Given the description of an element on the screen output the (x, y) to click on. 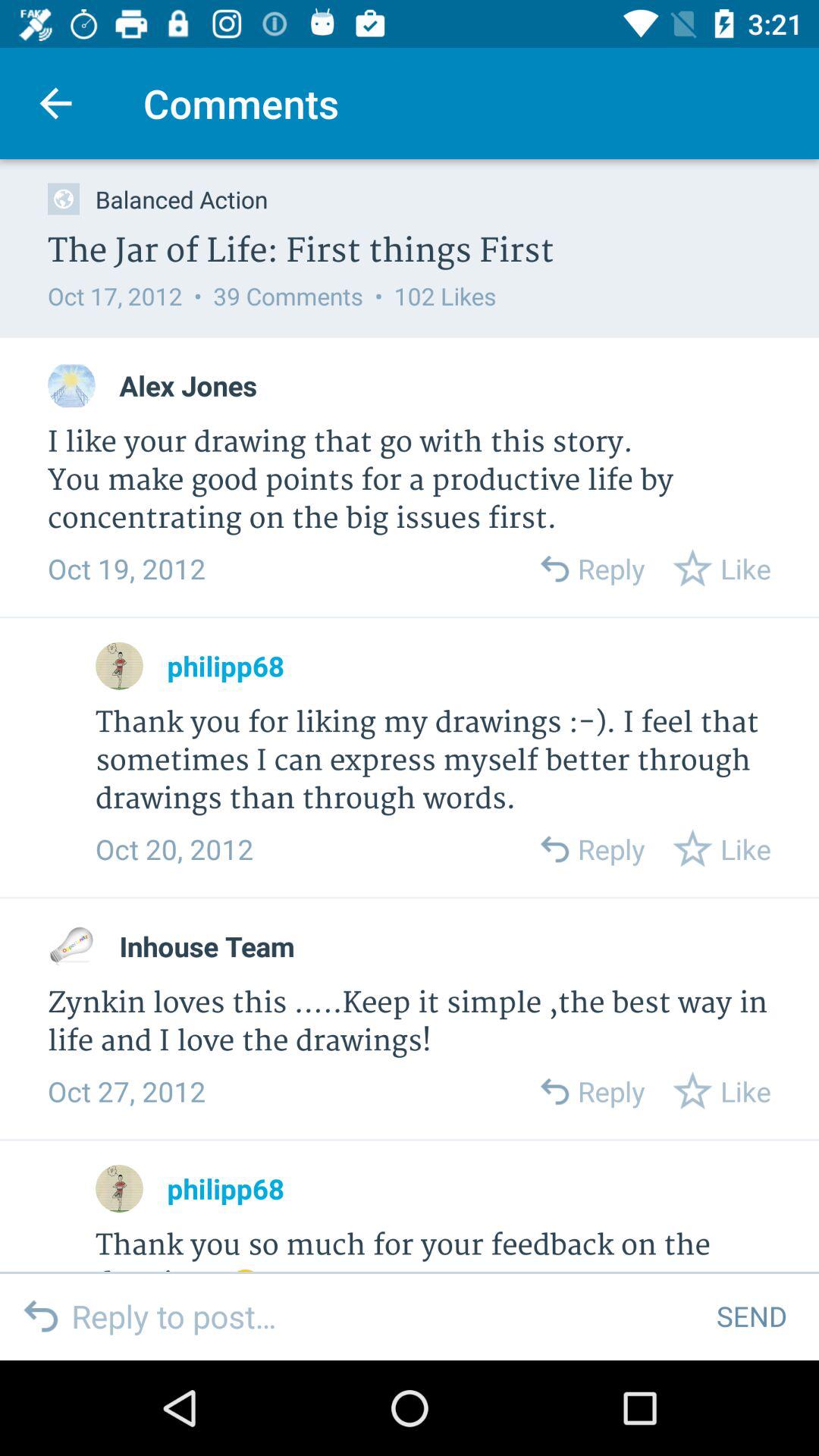
turn on item below the thank you so item (381, 1315)
